Given the description of an element on the screen output the (x, y) to click on. 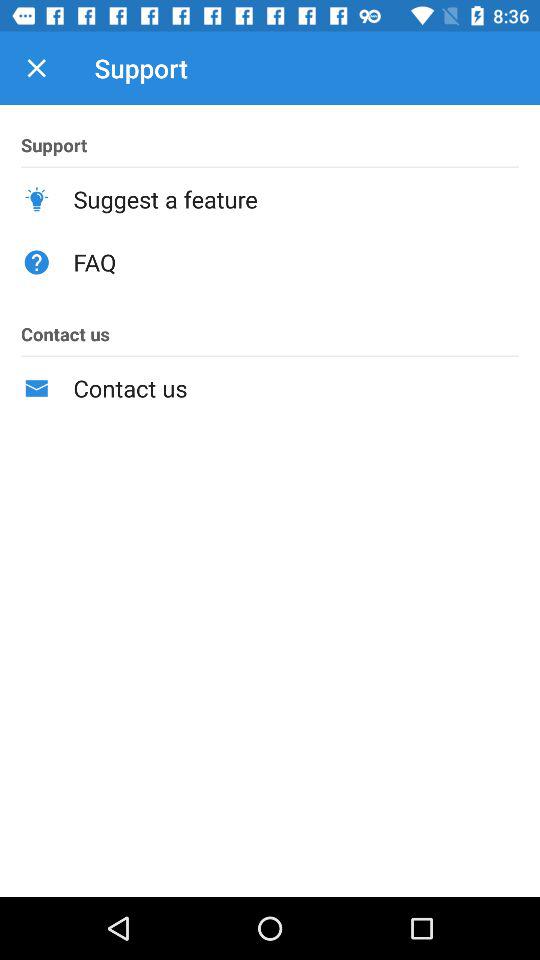
launch suggest a feature (296, 199)
